Given the description of an element on the screen output the (x, y) to click on. 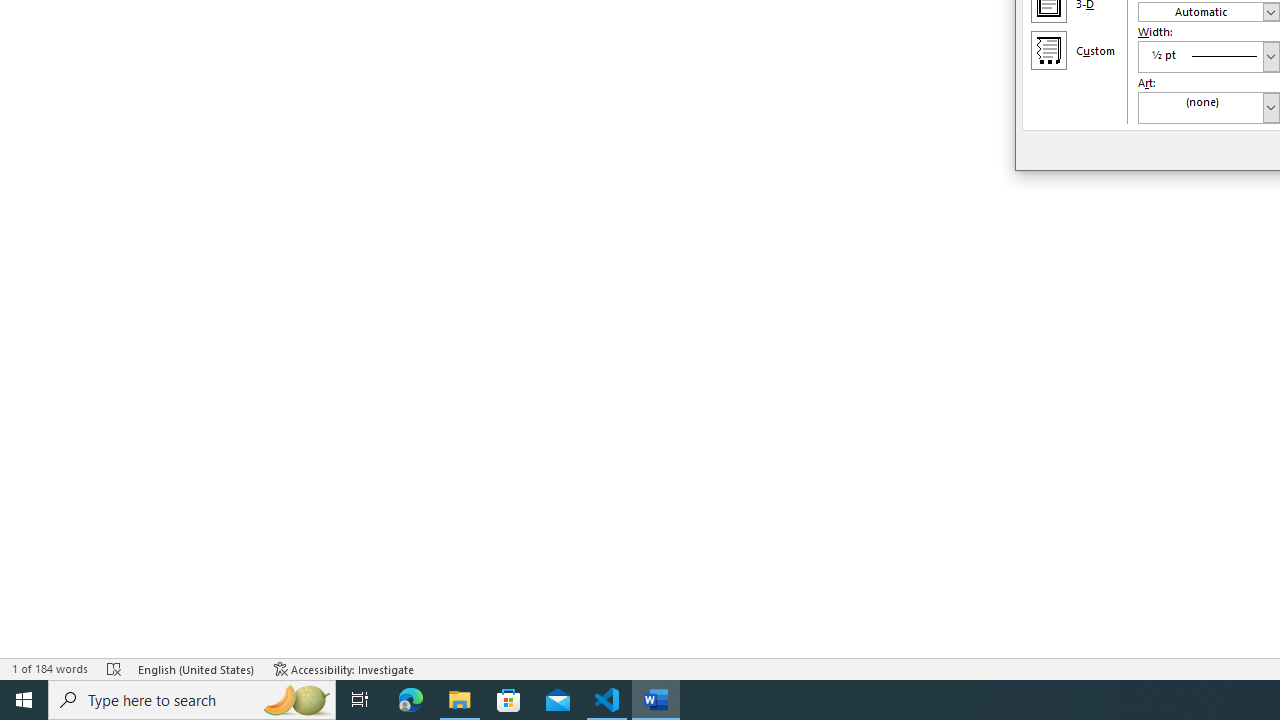
Accessibility Checker Accessibility: Investigate (344, 668)
Microsoft Store (509, 699)
Word - 1 running window (656, 699)
Task View (359, 699)
Start (24, 699)
Spelling and Grammar Check Errors (114, 668)
Type here to search (191, 699)
Custom (1048, 49)
Word Count 1 of 184 words (49, 668)
Microsoft Edge (411, 699)
Language English (United States) (196, 668)
Visual Studio Code - 1 running window (607, 699)
Search highlights icon opens search home window (295, 699)
File Explorer - 1 running window (460, 699)
